Given the description of an element on the screen output the (x, y) to click on. 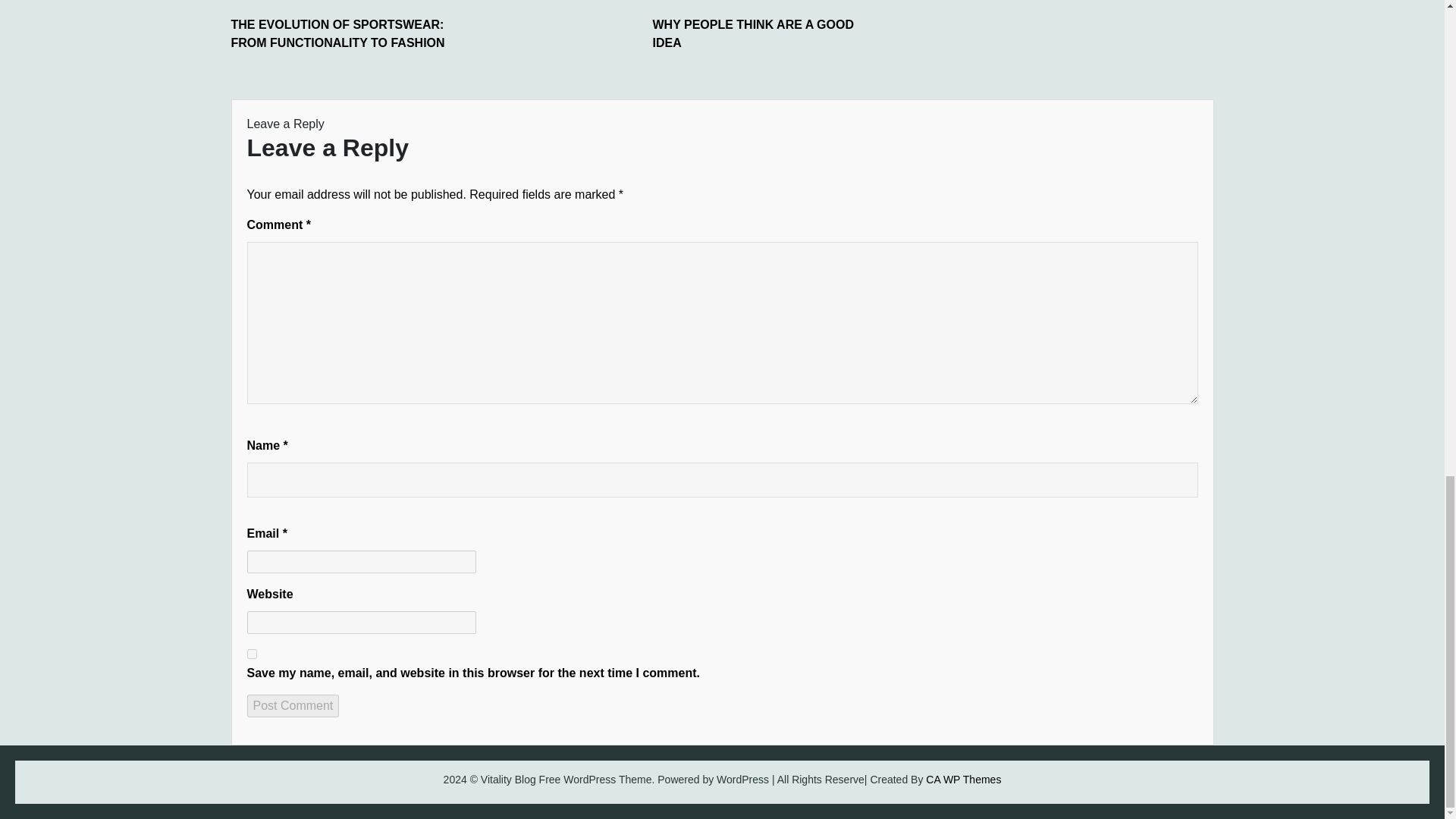
yes (252, 654)
THE EVOLUTION OF SPORTSWEAR: FROM FUNCTIONALITY TO FASHION (344, 33)
Post Comment (293, 705)
Post Comment (293, 705)
CA WP Themes (963, 779)
WHY PEOPLE THINK ARE A GOOD IDEA (765, 33)
